Given the description of an element on the screen output the (x, y) to click on. 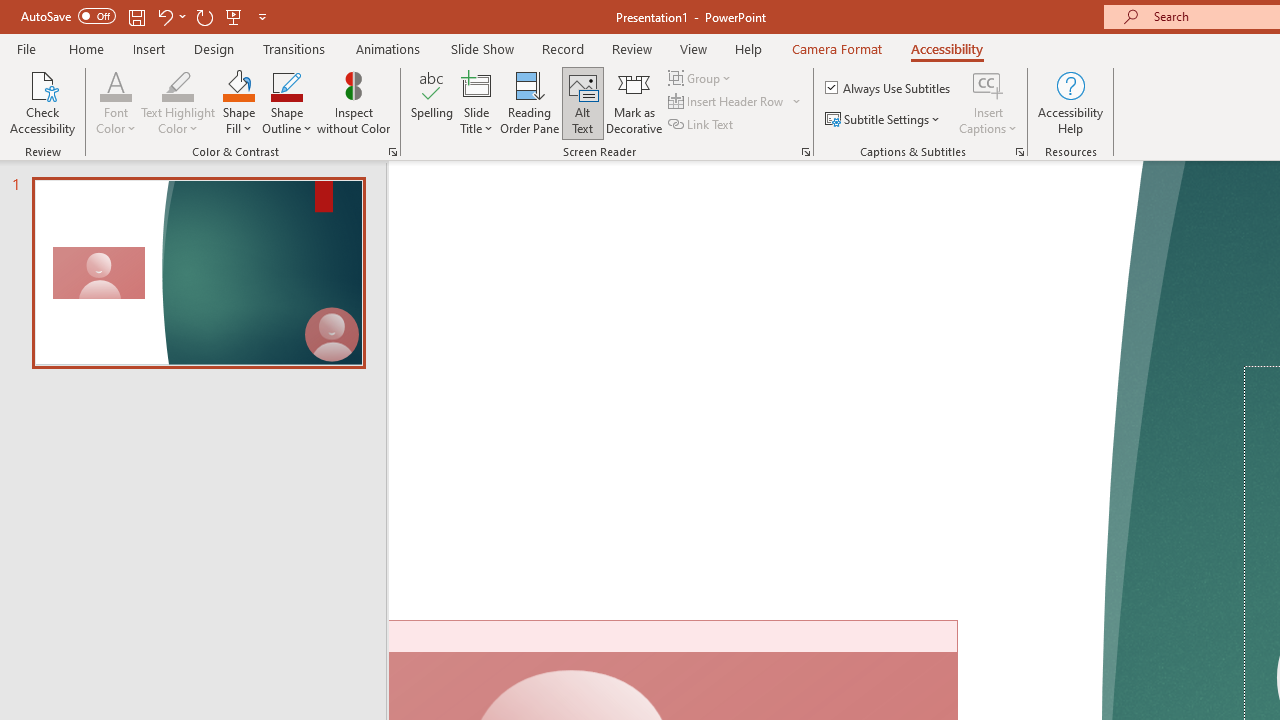
Insert Header Row (735, 101)
Insert Captions (988, 102)
